Given the description of an element on the screen output the (x, y) to click on. 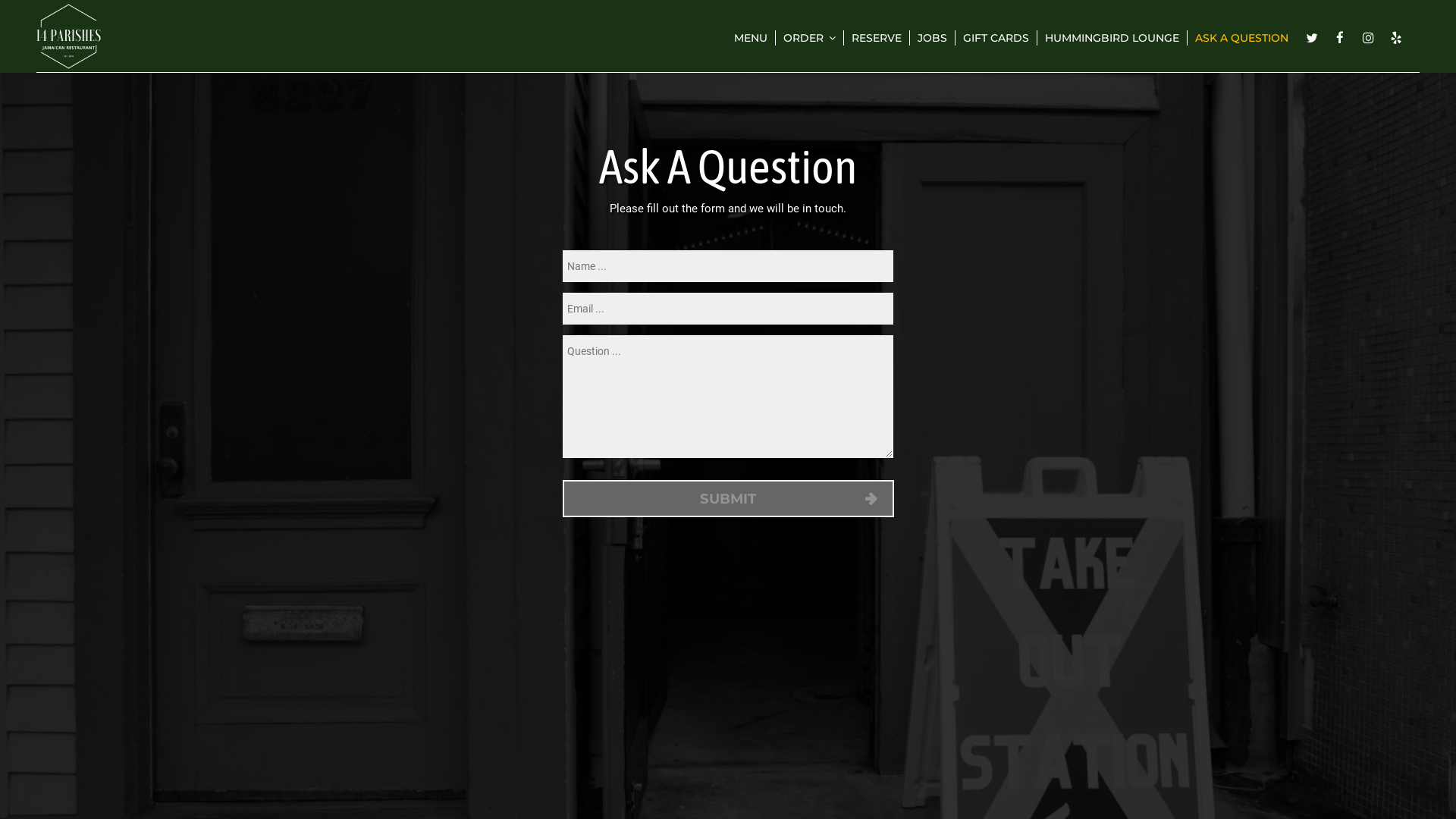
RESERVE Element type: text (877, 37)
MENU Element type: text (750, 37)
ORDER Element type: text (809, 37)
JOBS Element type: text (932, 37)
GIFT CARDS Element type: text (996, 37)
SUBMIT Element type: text (728, 498)
HUMMINGBIRD LOUNGE Element type: text (1112, 37)
ASK A QUESTION Element type: text (1241, 37)
